Given the description of an element on the screen output the (x, y) to click on. 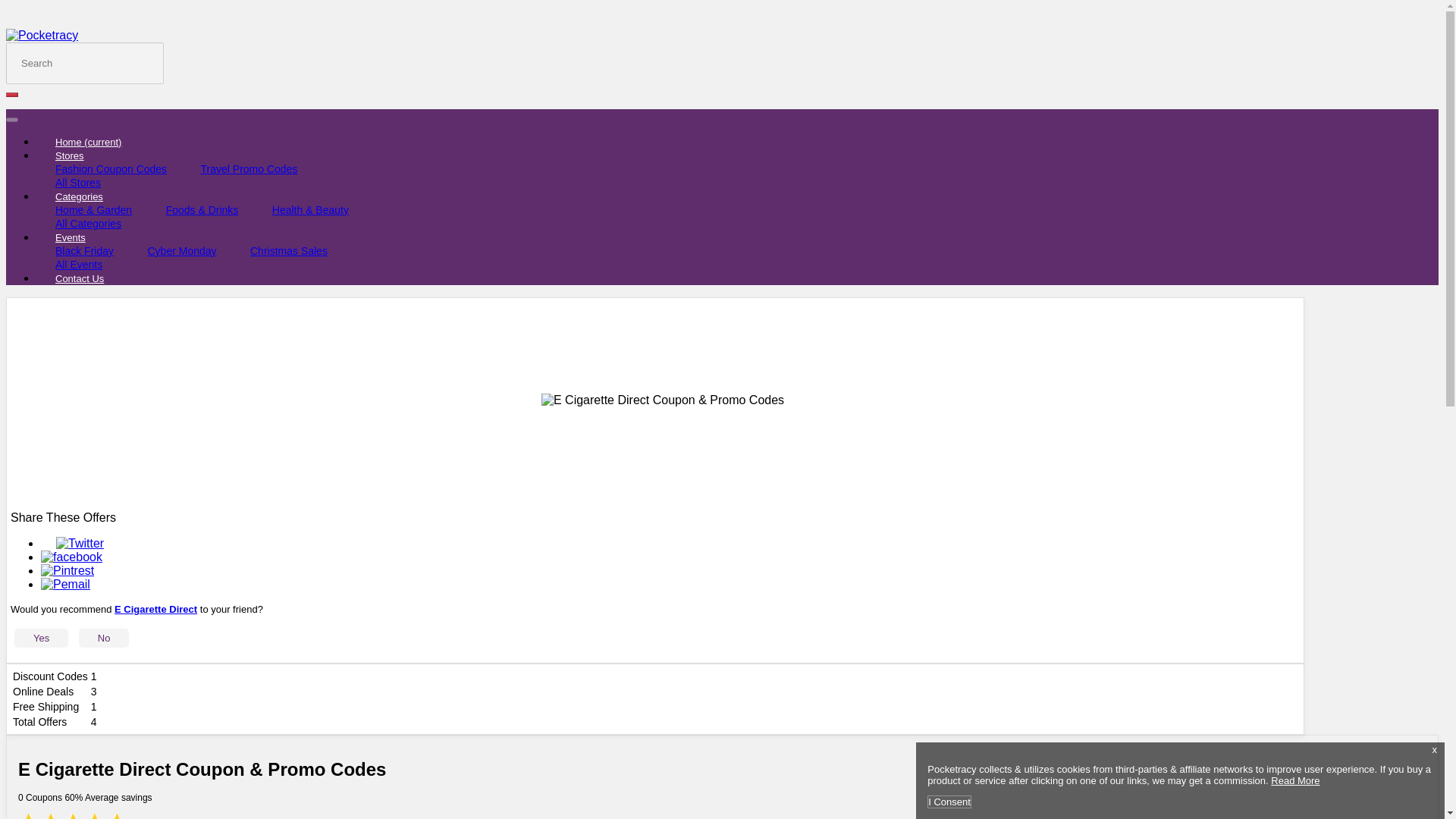
All Events (78, 264)
All Stores (78, 182)
Travel Promo Codes (249, 168)
Christmas Sales (288, 250)
E Cigarette Direct (155, 609)
I Consent (949, 801)
Pintrest (67, 570)
Read More (1295, 780)
Cyber Monday (181, 250)
Twiter (79, 543)
Fashion Coupon Codes (111, 168)
Pocketracy (41, 34)
Categories (78, 196)
Stores (69, 155)
Facebook (70, 556)
